Given the description of an element on the screen output the (x, y) to click on. 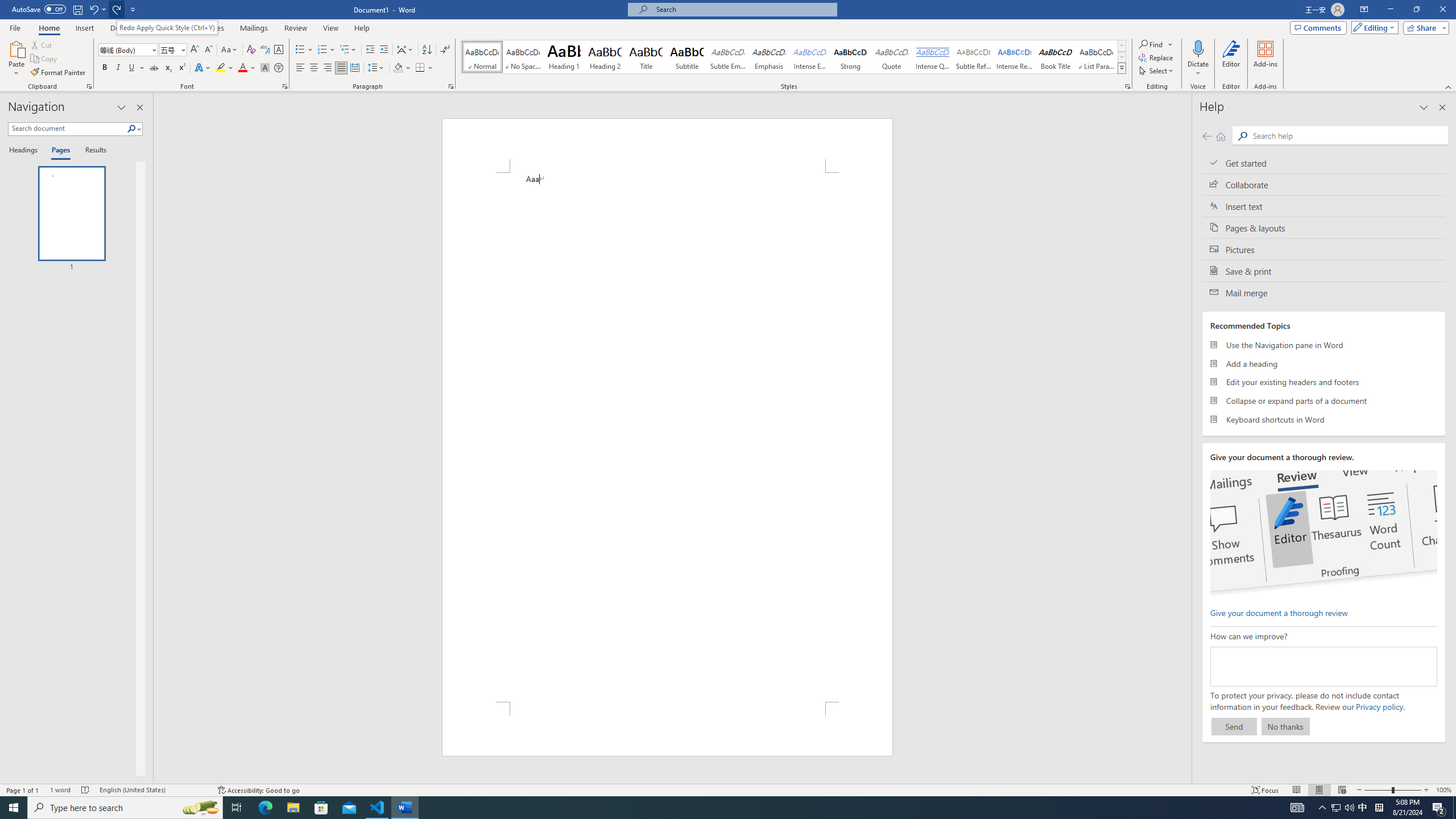
Send (1233, 726)
Spelling and Grammar Check No Errors (85, 790)
Edit your existing headers and footers (1323, 381)
